Given the description of an element on the screen output the (x, y) to click on. 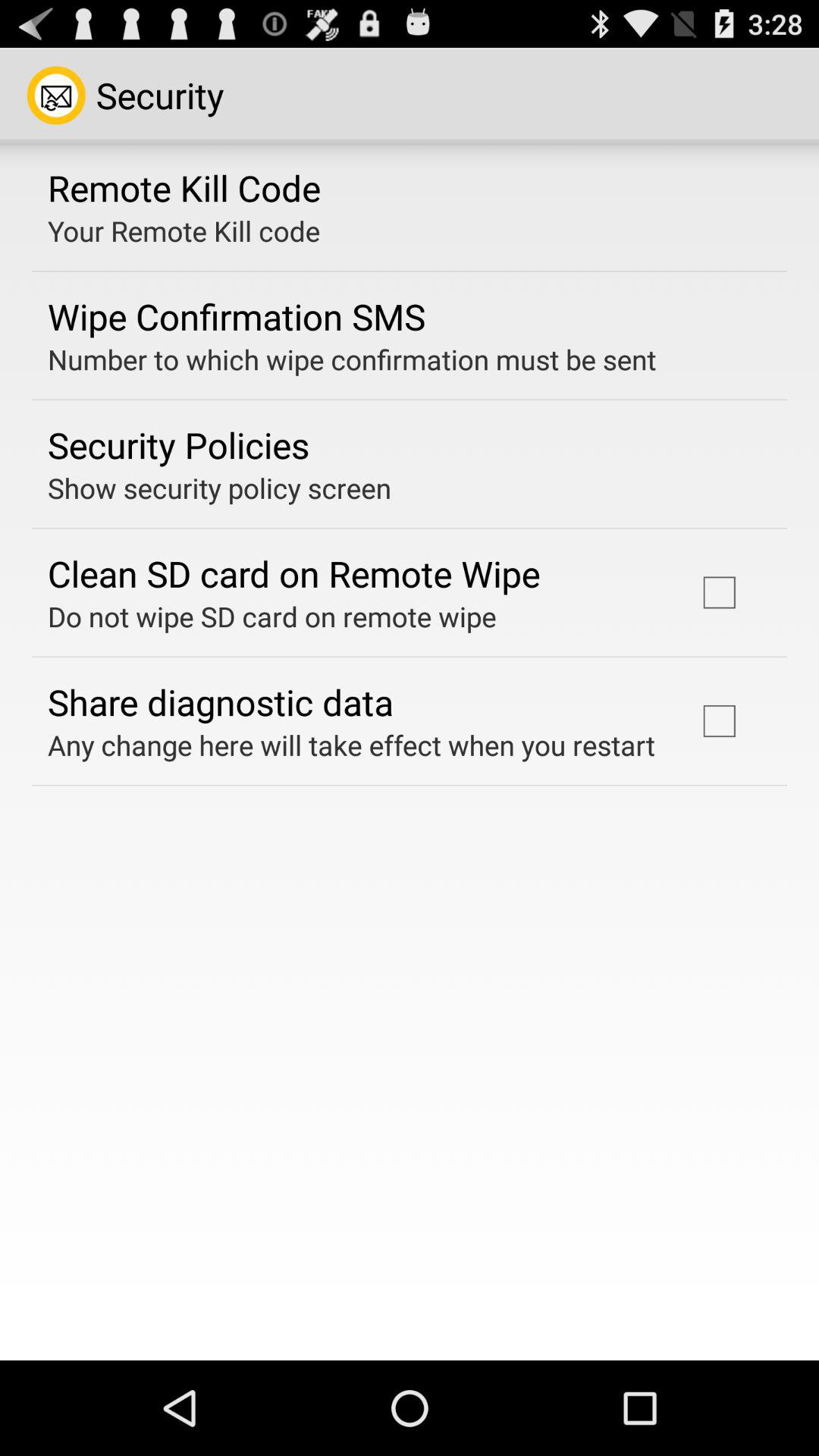
turn on icon above security policies icon (351, 359)
